Given the description of an element on the screen output the (x, y) to click on. 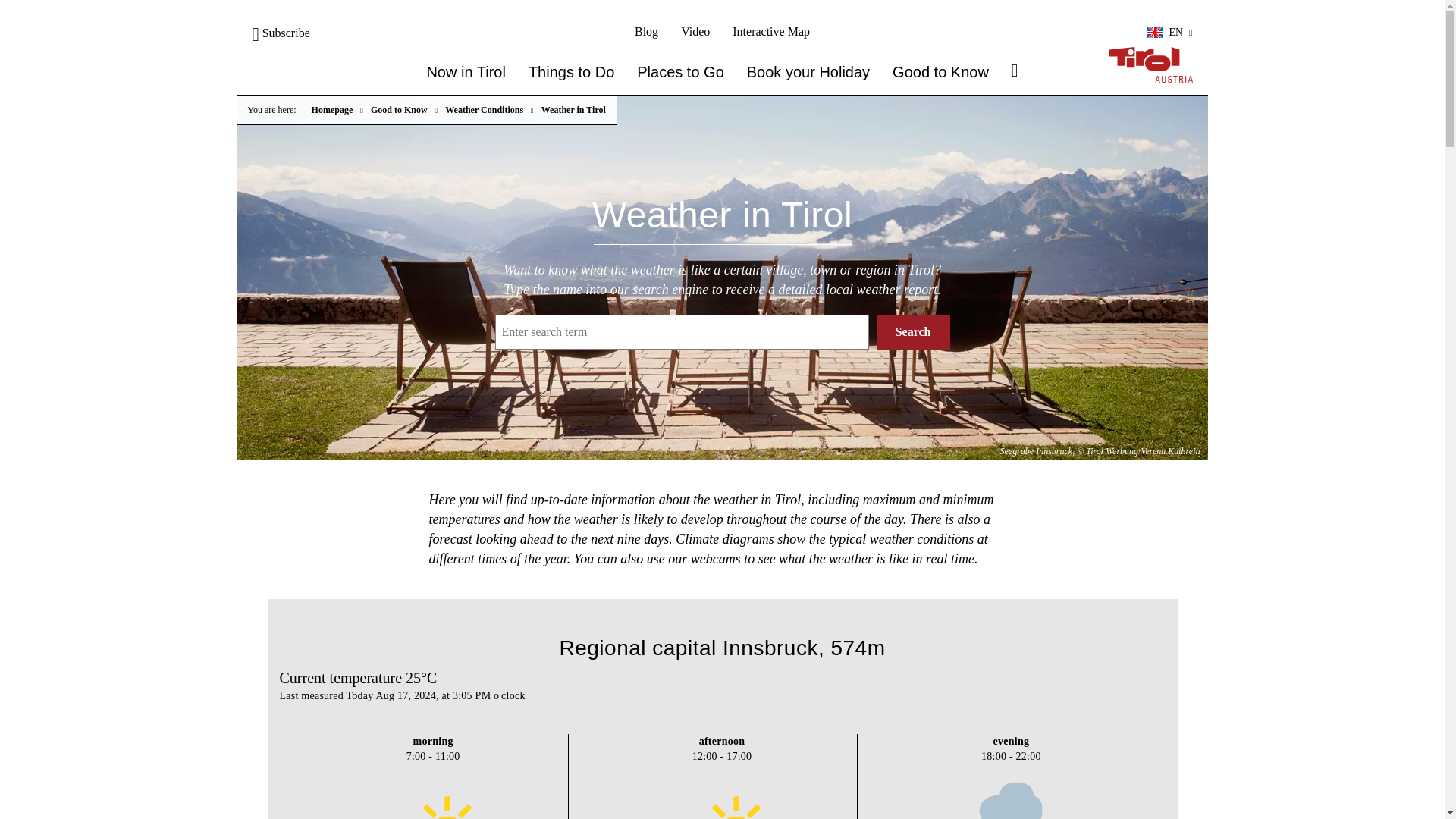
Interactive Map (770, 31)
Video (695, 31)
Blog (646, 31)
Subscribe (279, 32)
Now in Tirol (465, 71)
Things to Do (571, 71)
